Given the description of an element on the screen output the (x, y) to click on. 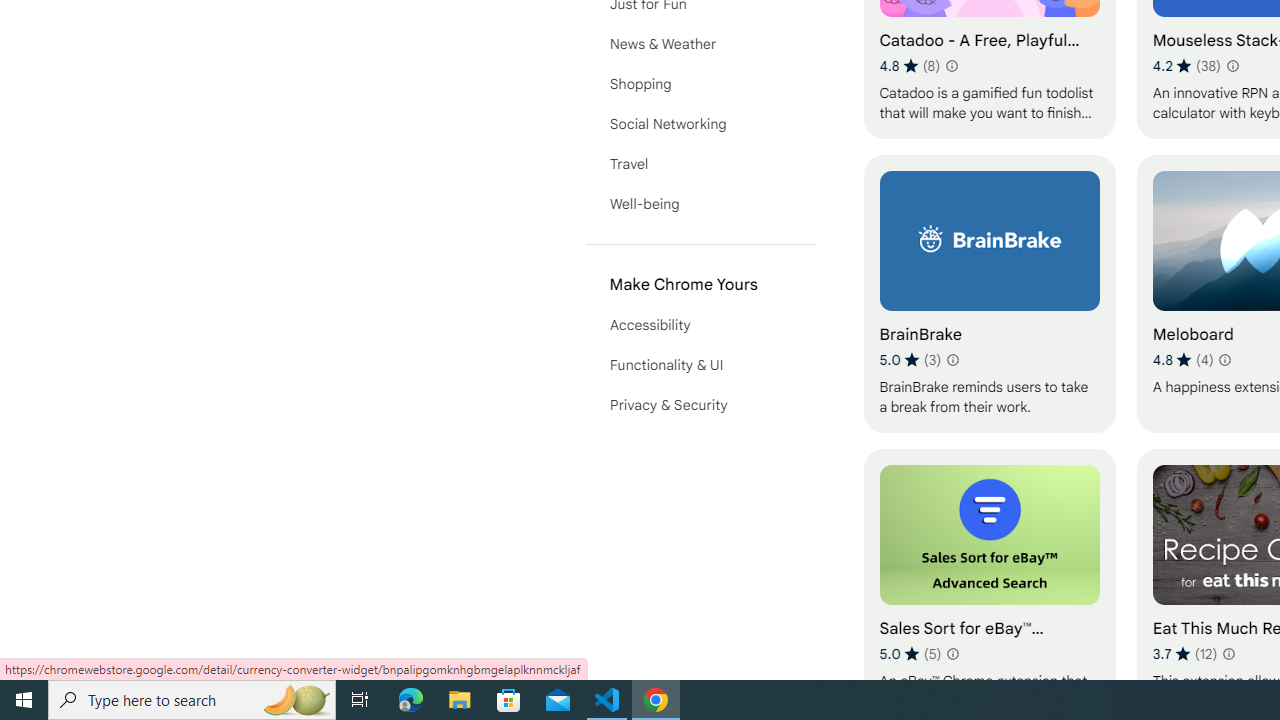
Average rating 3.7 out of 5 stars. 12 ratings. (1185, 653)
BrainBrake (989, 293)
Accessibility (700, 324)
Learn more about results and reviews "BrainBrake" (951, 359)
Well-being (700, 203)
Average rating 4.8 out of 5 stars. 8 ratings. (909, 66)
Average rating 5 out of 5 stars. 5 ratings. (910, 653)
Average rating 5 out of 5 stars. 3 ratings. (910, 359)
Learn more about results and reviews "Meloboard" (1224, 359)
Functionality & UI (700, 364)
Social Networking (700, 123)
Shopping (700, 83)
